Given the description of an element on the screen output the (x, y) to click on. 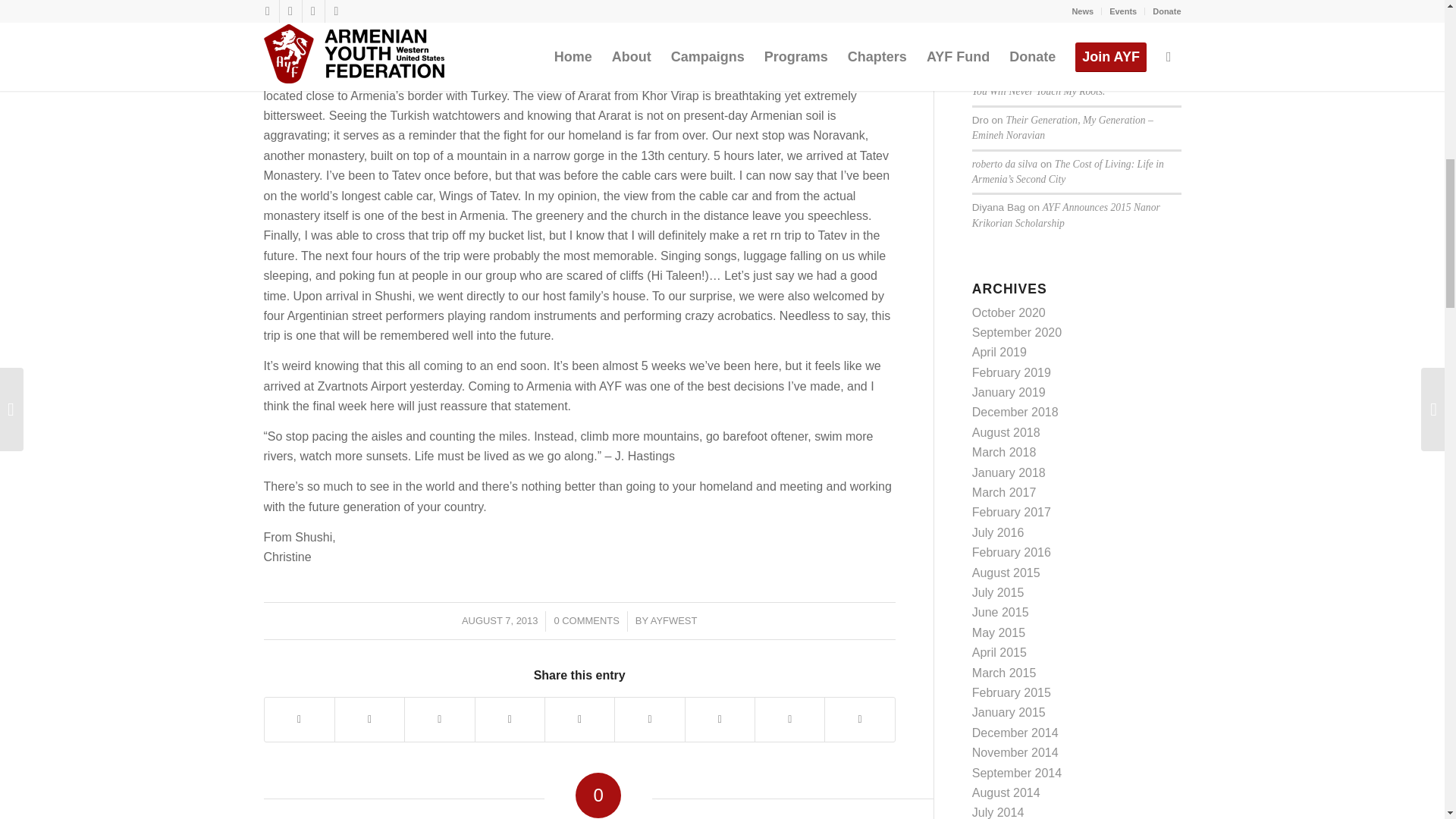
AYFWEST (673, 620)
Posts by AYFWest (673, 620)
0 COMMENTS (585, 620)
